Given the description of an element on the screen output the (x, y) to click on. 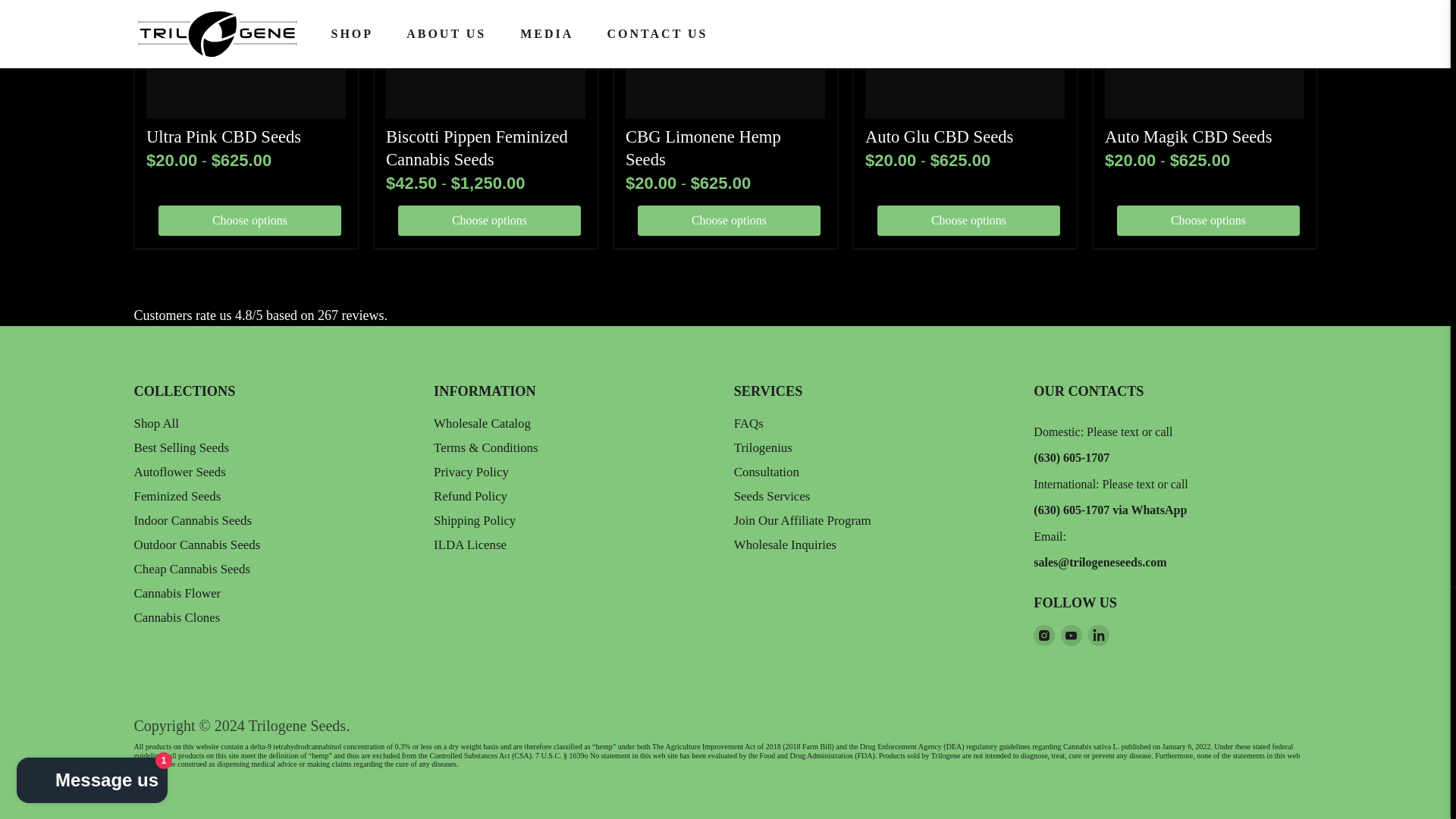
Instagram (1043, 635)
LinkedIn (1098, 635)
Youtube (1071, 635)
